Given the description of an element on the screen output the (x, y) to click on. 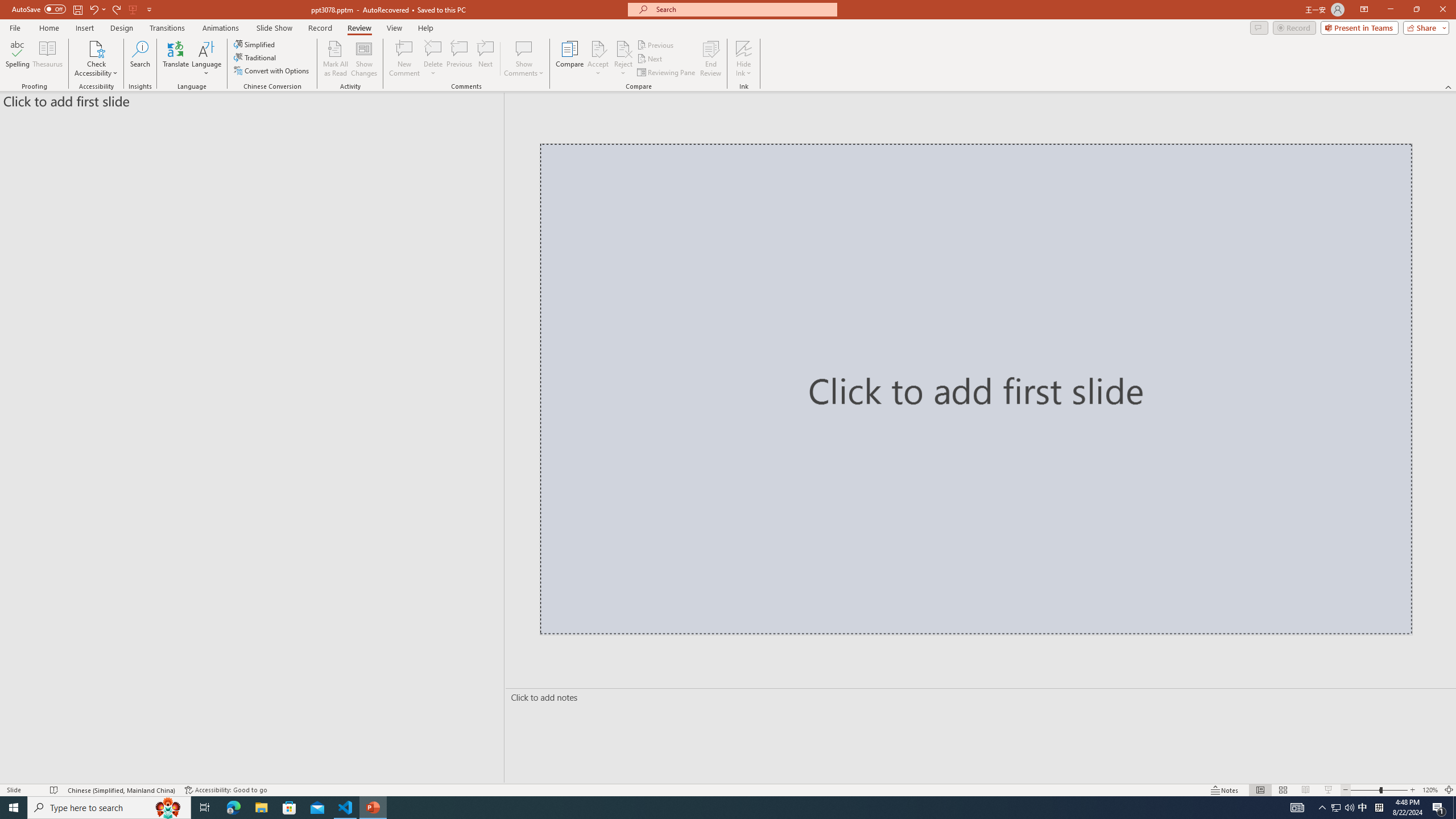
End Review (710, 58)
